Given the description of an element on the screen output the (x, y) to click on. 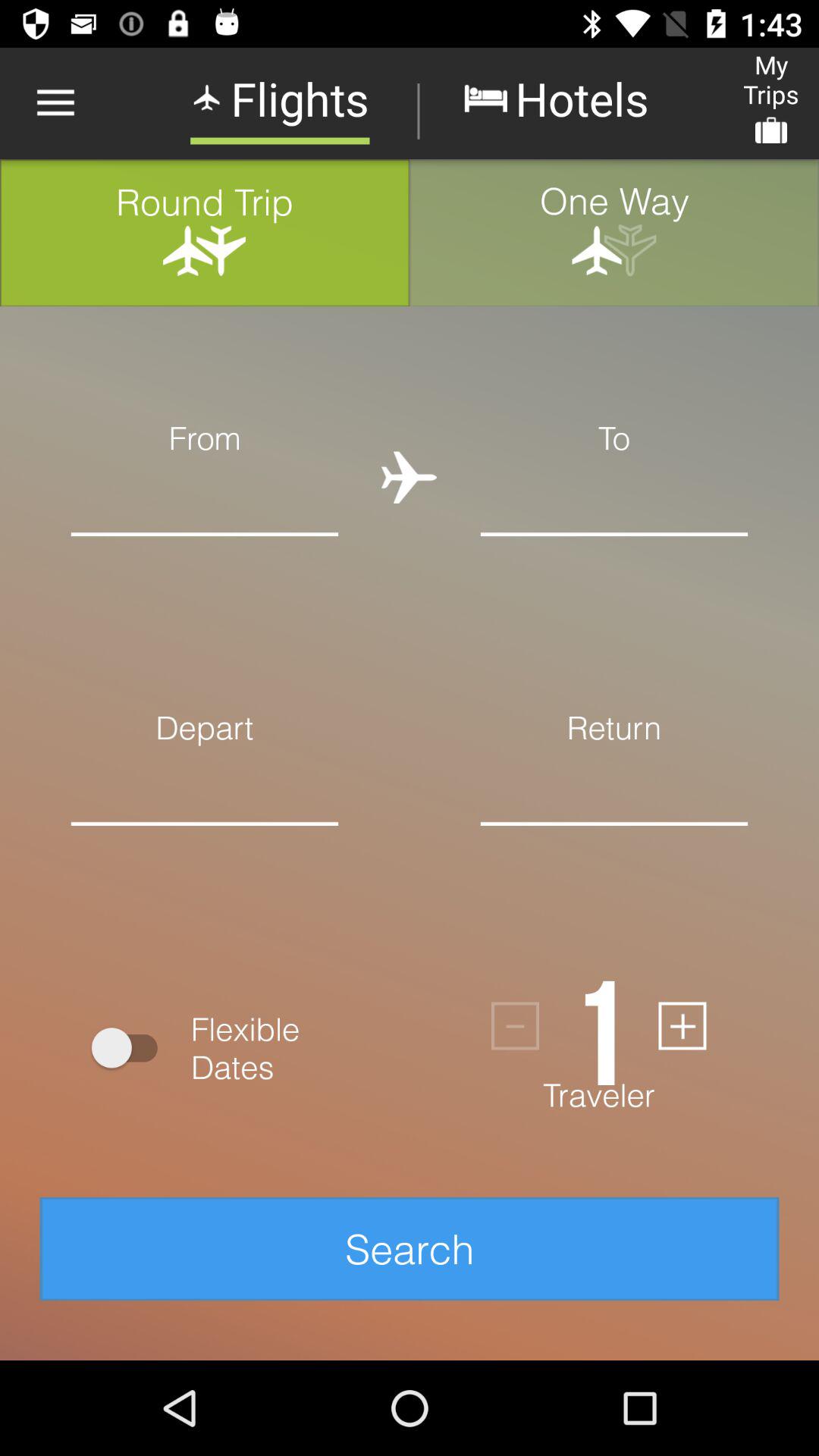
launch item above round trip (55, 103)
